Given the description of an element on the screen output the (x, y) to click on. 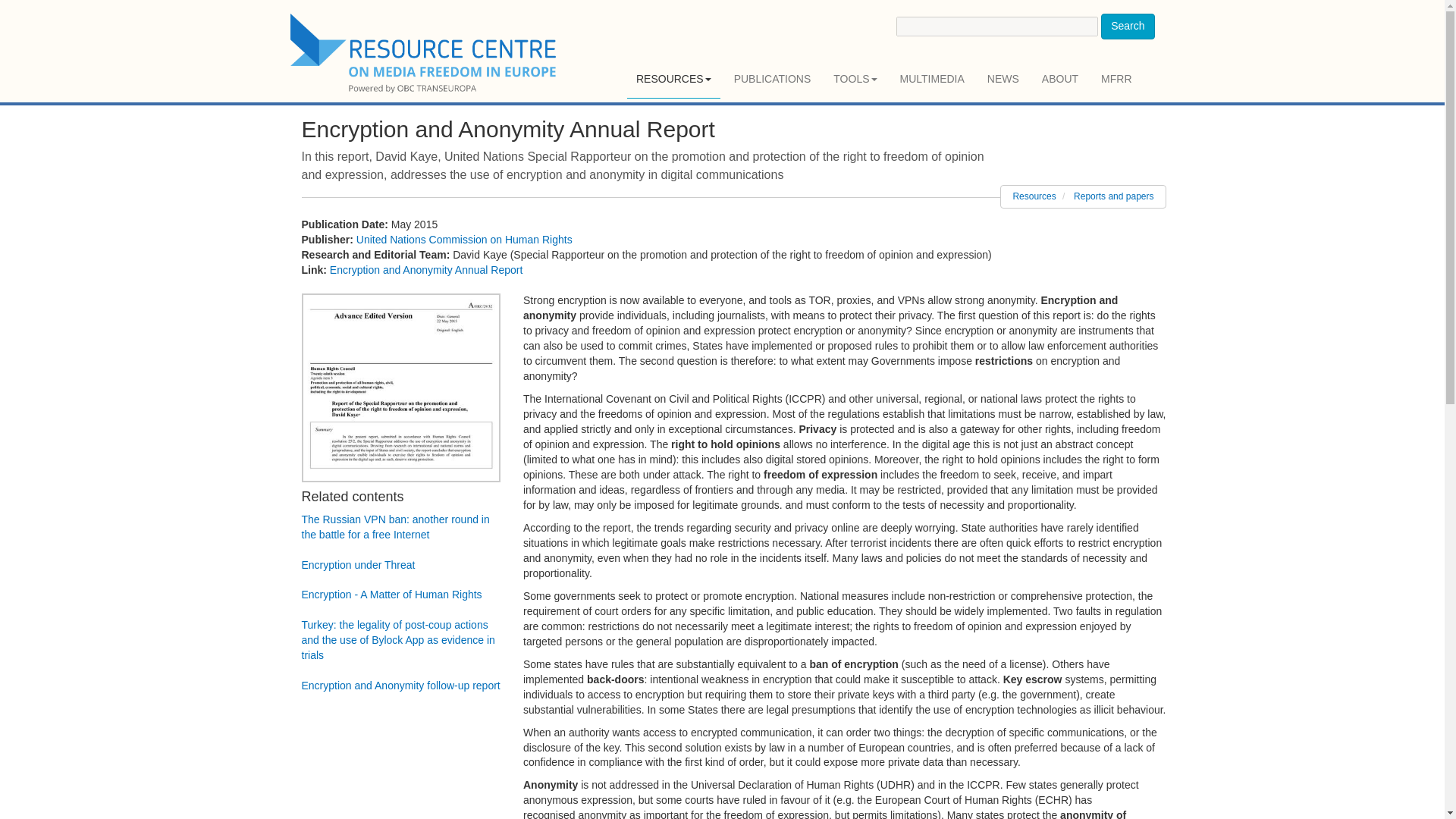
MULTIMEDIA (932, 78)
Encryption and Anonymity follow-up report (400, 685)
Encryption and Anonymity Annual Report (426, 269)
Encryption under Threat (357, 564)
ABOUT (1059, 78)
PUBLICATIONS (773, 78)
Encryption - A Matter of Human Rights (391, 594)
MFRR (1116, 78)
Search (1127, 26)
Resource Centre (424, 53)
RESOURCES (673, 78)
Resources (1033, 195)
TOOLS (854, 78)
